Given the description of an element on the screen output the (x, y) to click on. 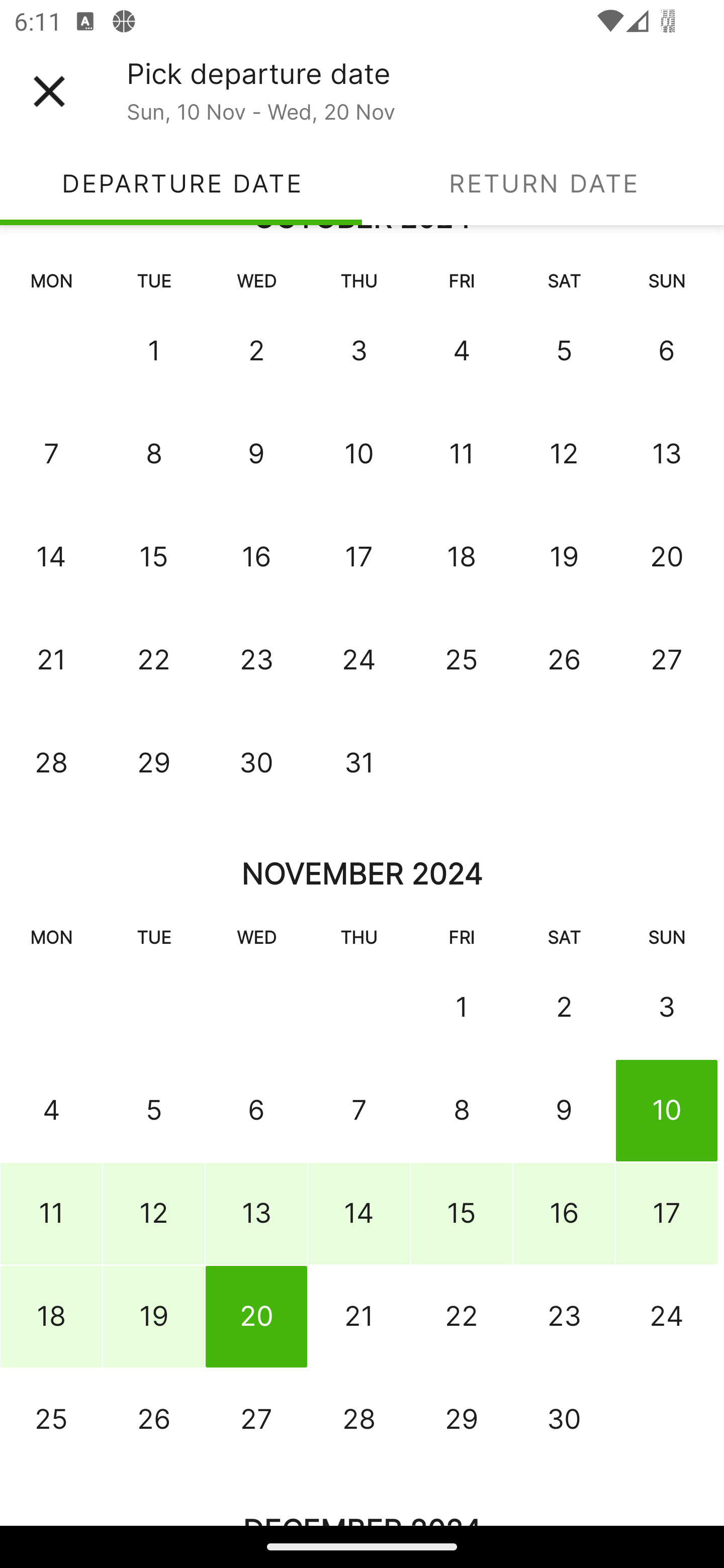
Return Date RETURN DATE (543, 183)
